Given the description of an element on the screen output the (x, y) to click on. 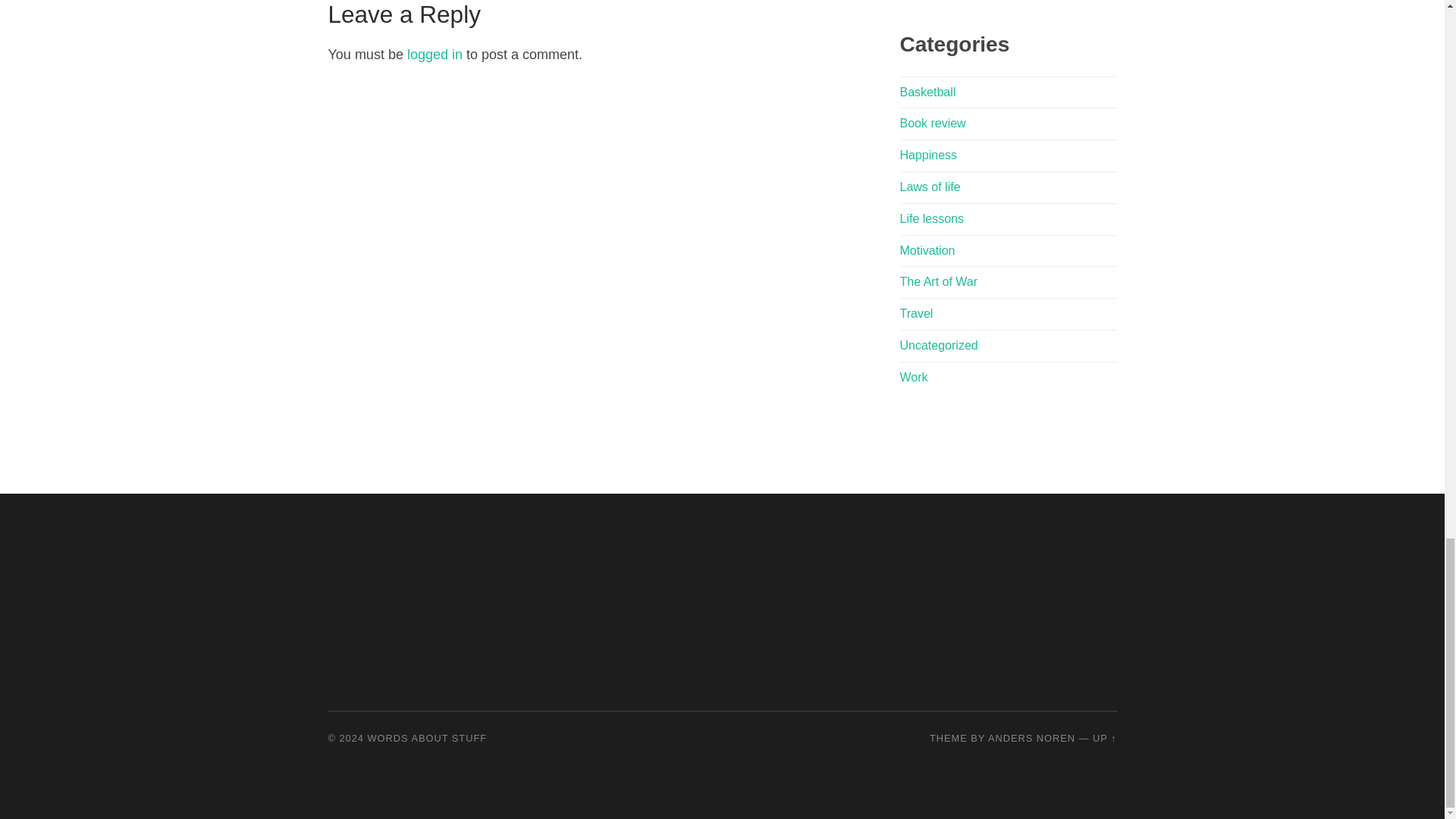
logged in (435, 54)
To the top (1104, 737)
